Given the description of an element on the screen output the (x, y) to click on. 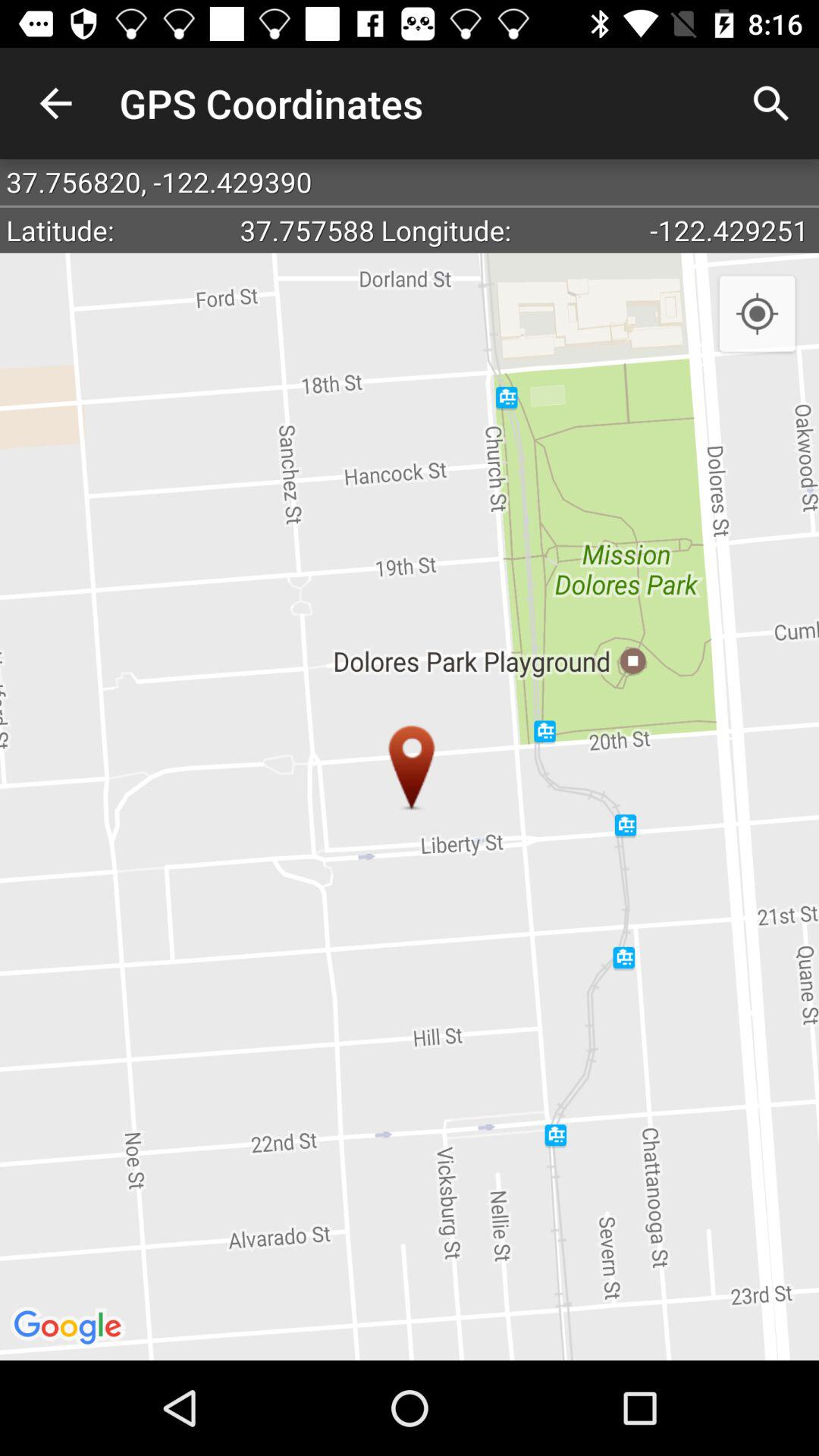
open the app to the left of the gps coordinates (55, 103)
